Given the description of an element on the screen output the (x, y) to click on. 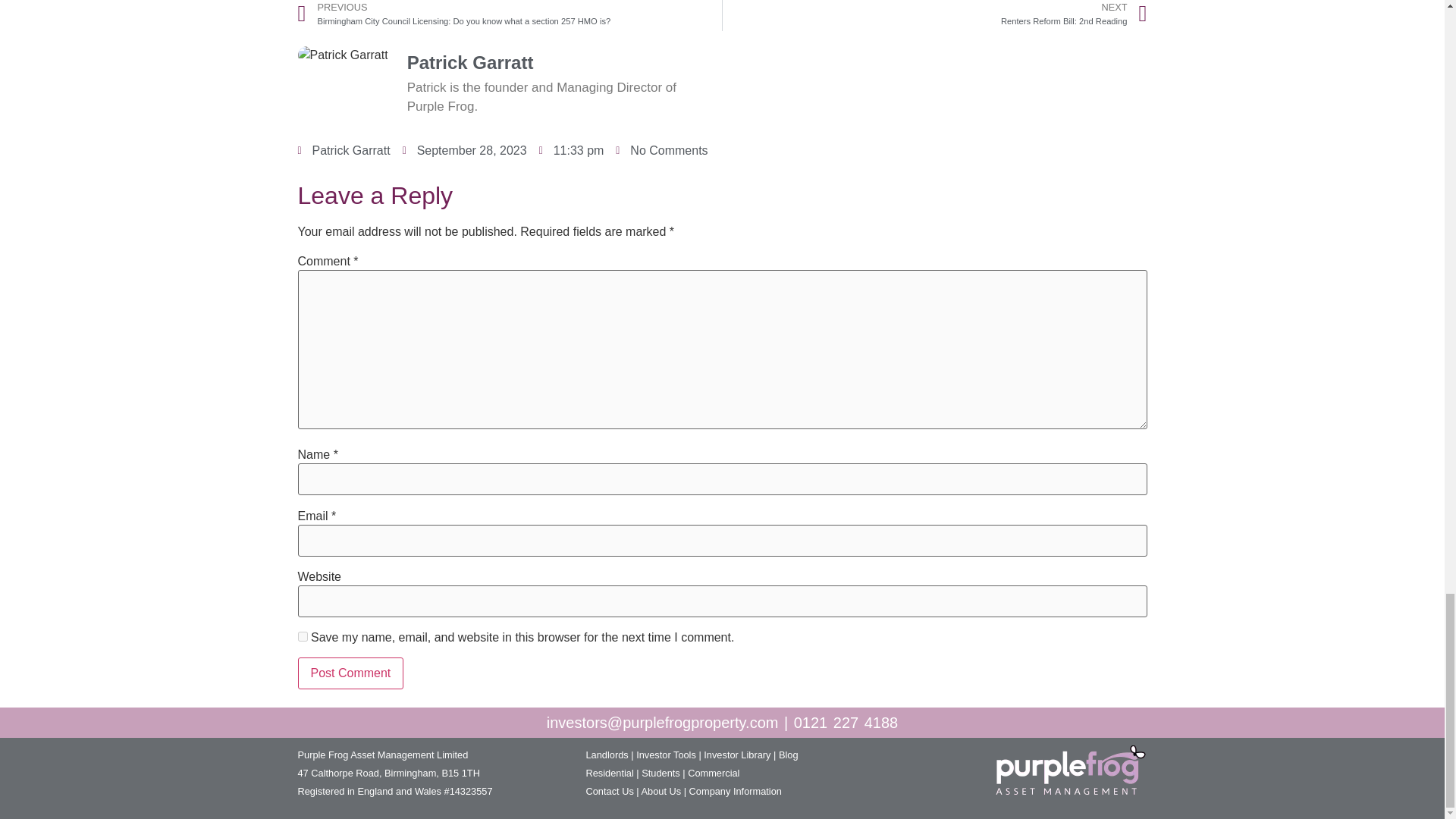
yes (302, 636)
Post Comment (350, 673)
main-logo (1070, 774)
